Given the description of an element on the screen output the (x, y) to click on. 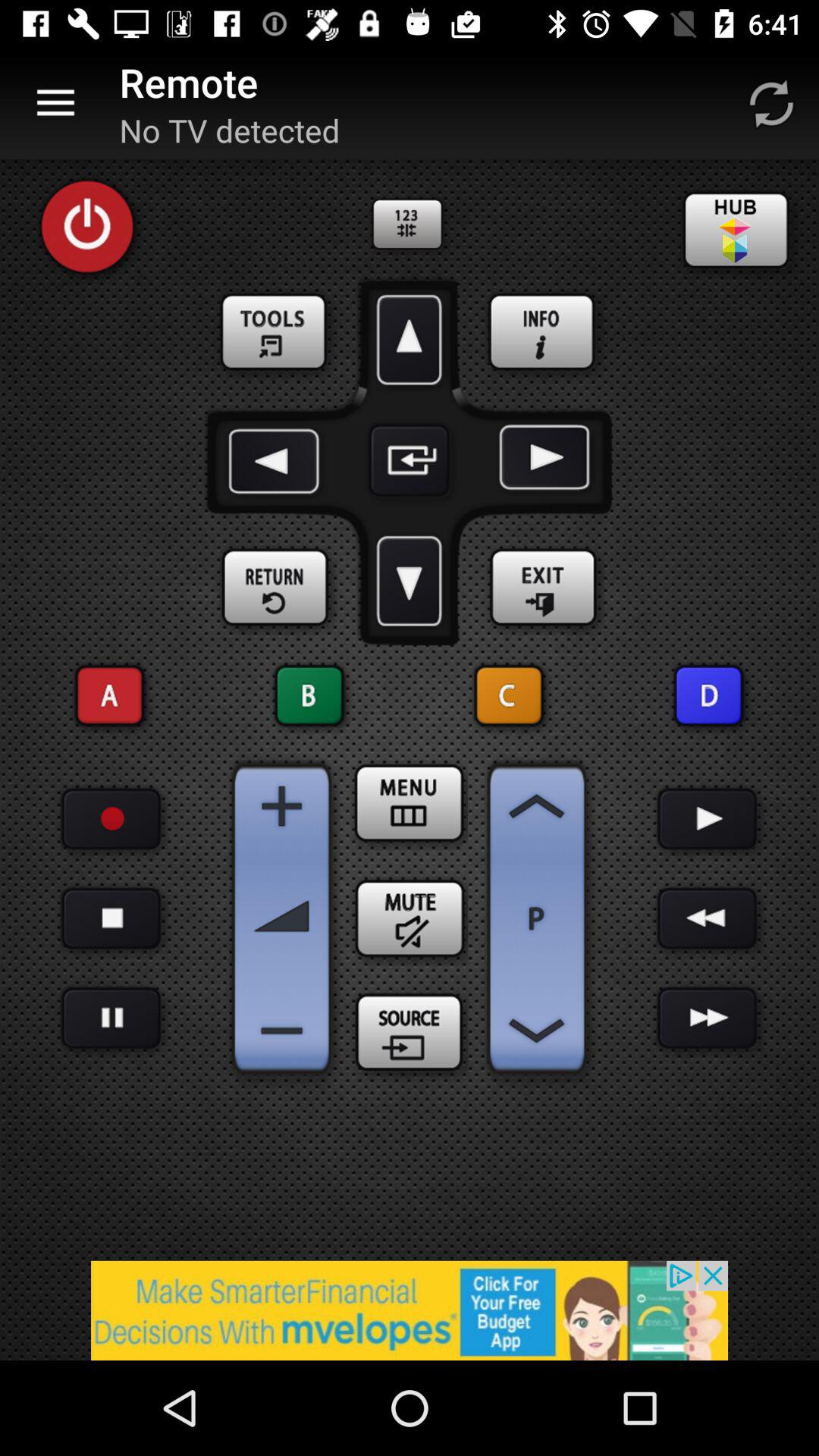
exit (542, 588)
